Given the description of an element on the screen output the (x, y) to click on. 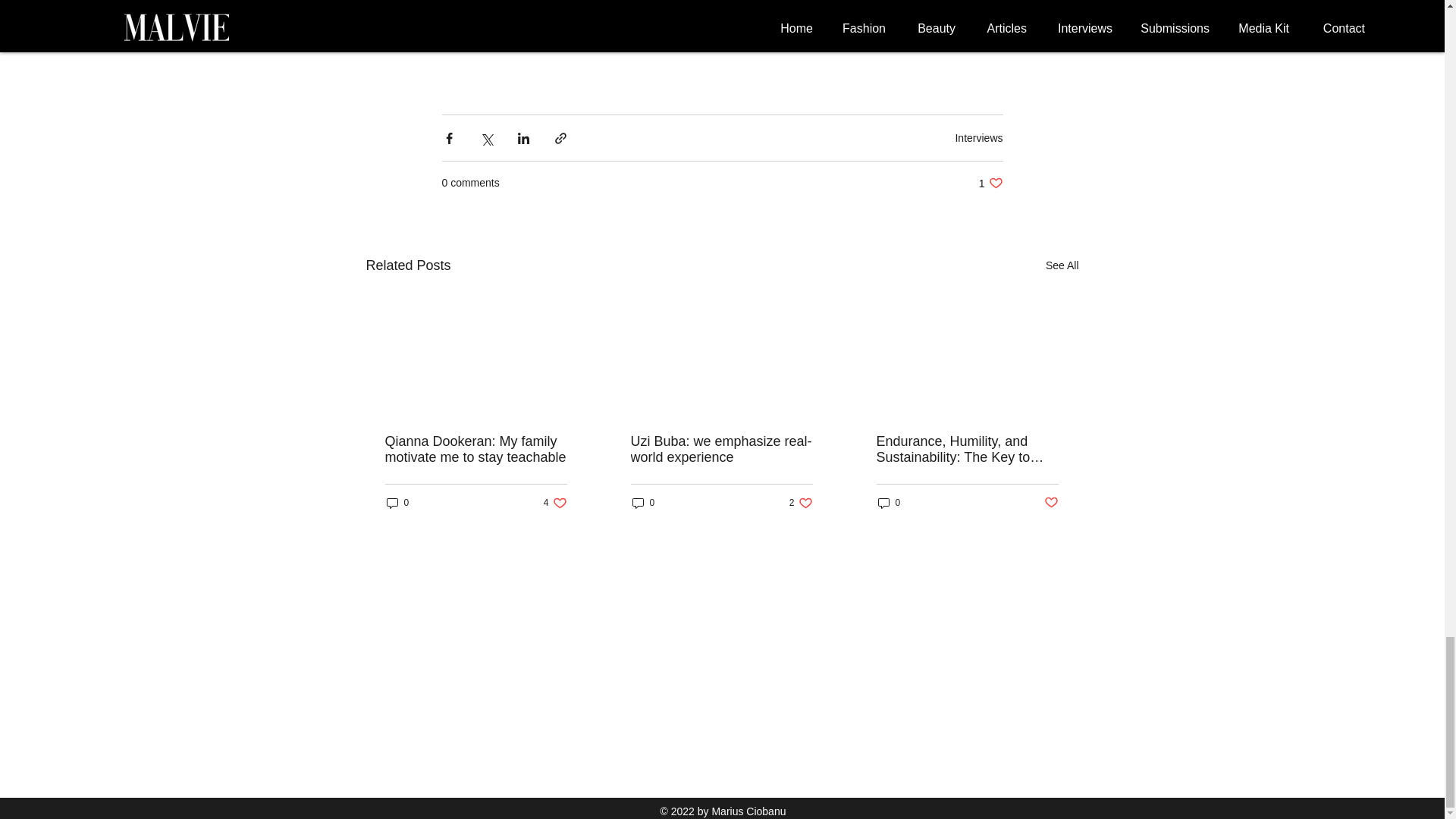
0 (397, 503)
0 (643, 503)
0 (800, 503)
Qianna Dookeran: My family motivate me to stay teachable (889, 503)
Interviews (476, 450)
Uzi Buba: we emphasize real-world experience (979, 137)
See All (721, 450)
Post not marked as liked (555, 503)
